Given the description of an element on the screen output the (x, y) to click on. 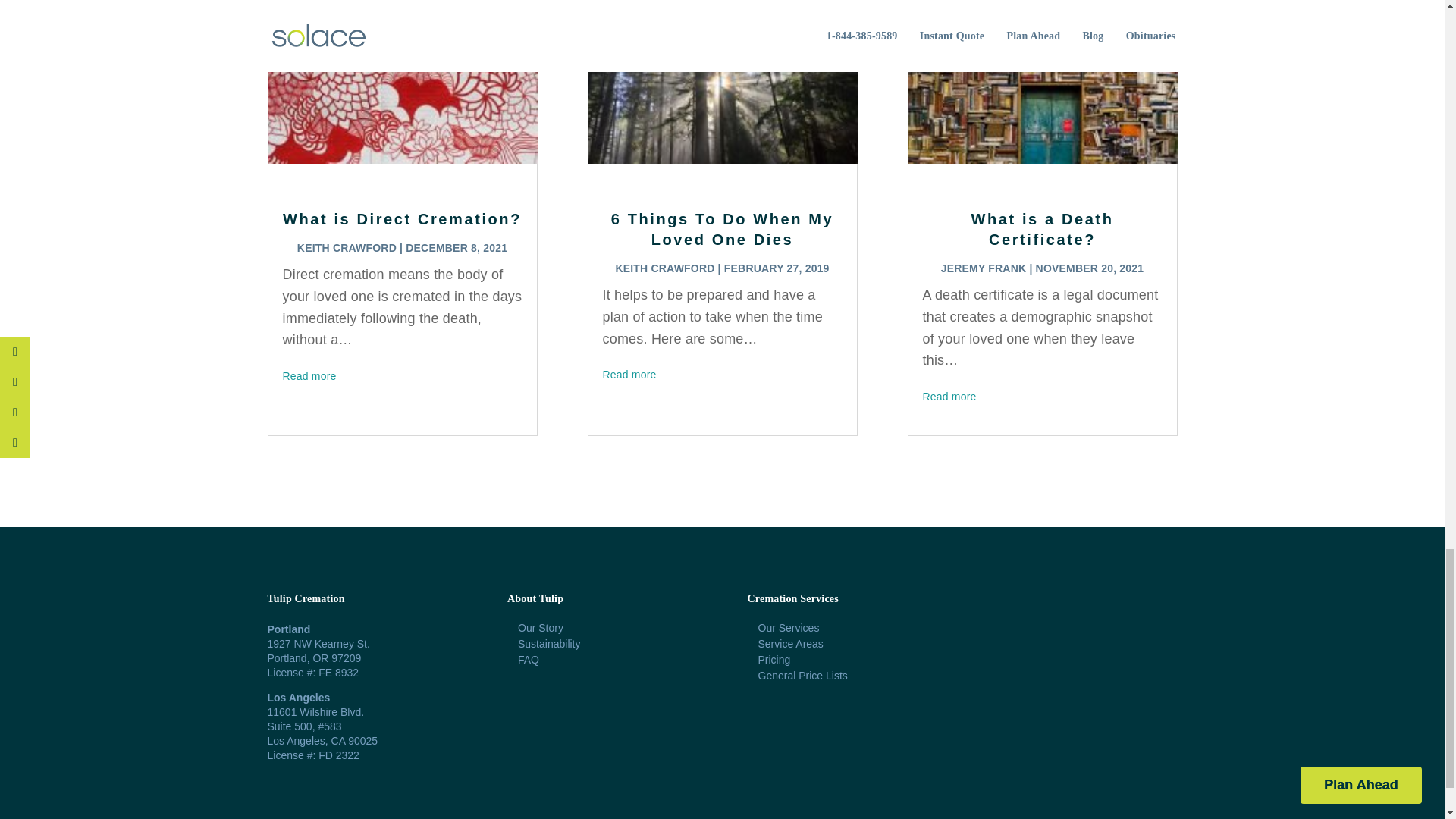
Posts by Keith Crawford (346, 247)
Posts by Jeremy Frank (983, 268)
Posts by Keith Crawford (664, 268)
